Given the description of an element on the screen output the (x, y) to click on. 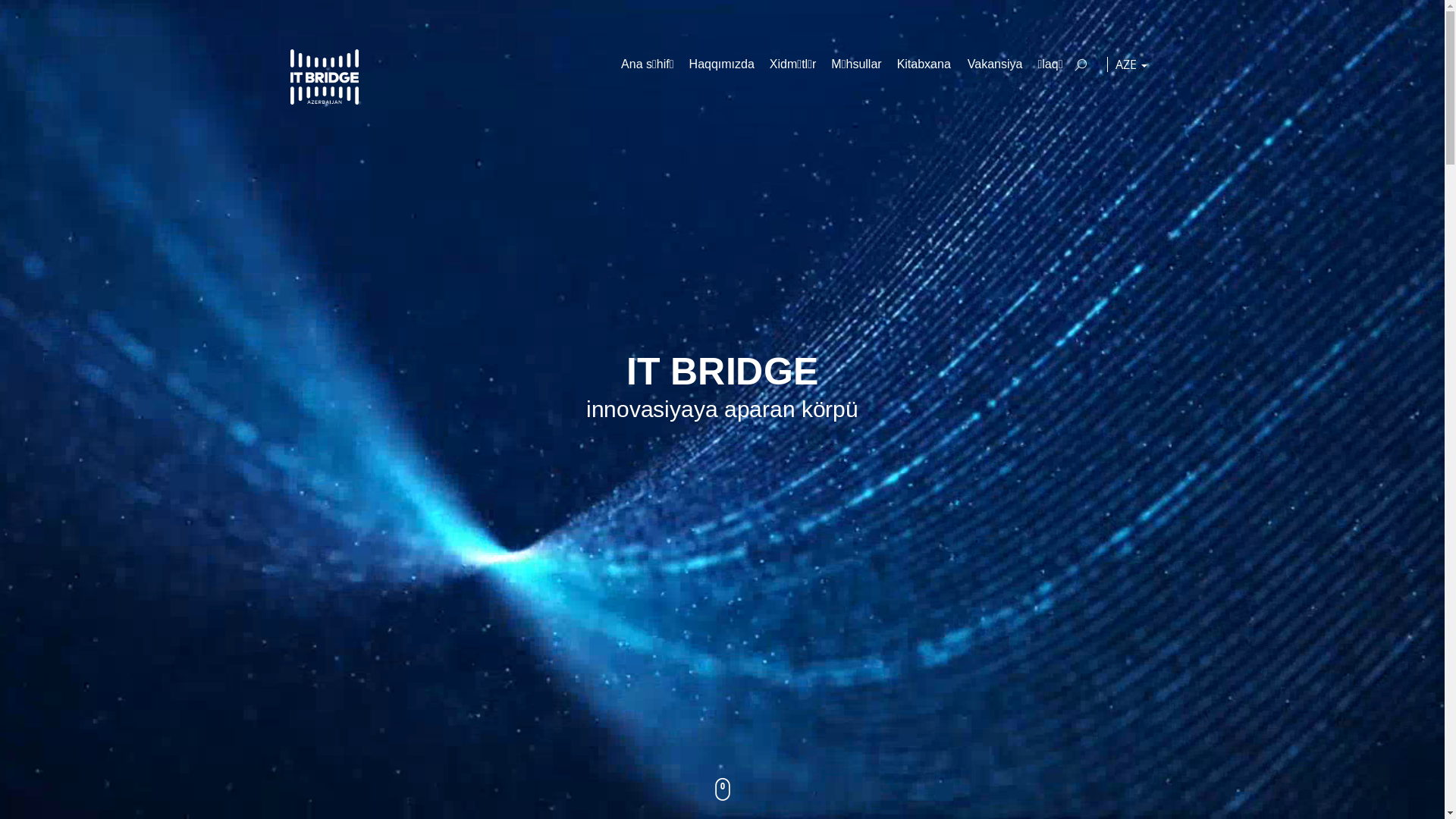
AZE Element type: text (1130, 64)
Kitabxana Element type: text (924, 64)
Vakansiya Element type: text (995, 64)
